Given the description of an element on the screen output the (x, y) to click on. 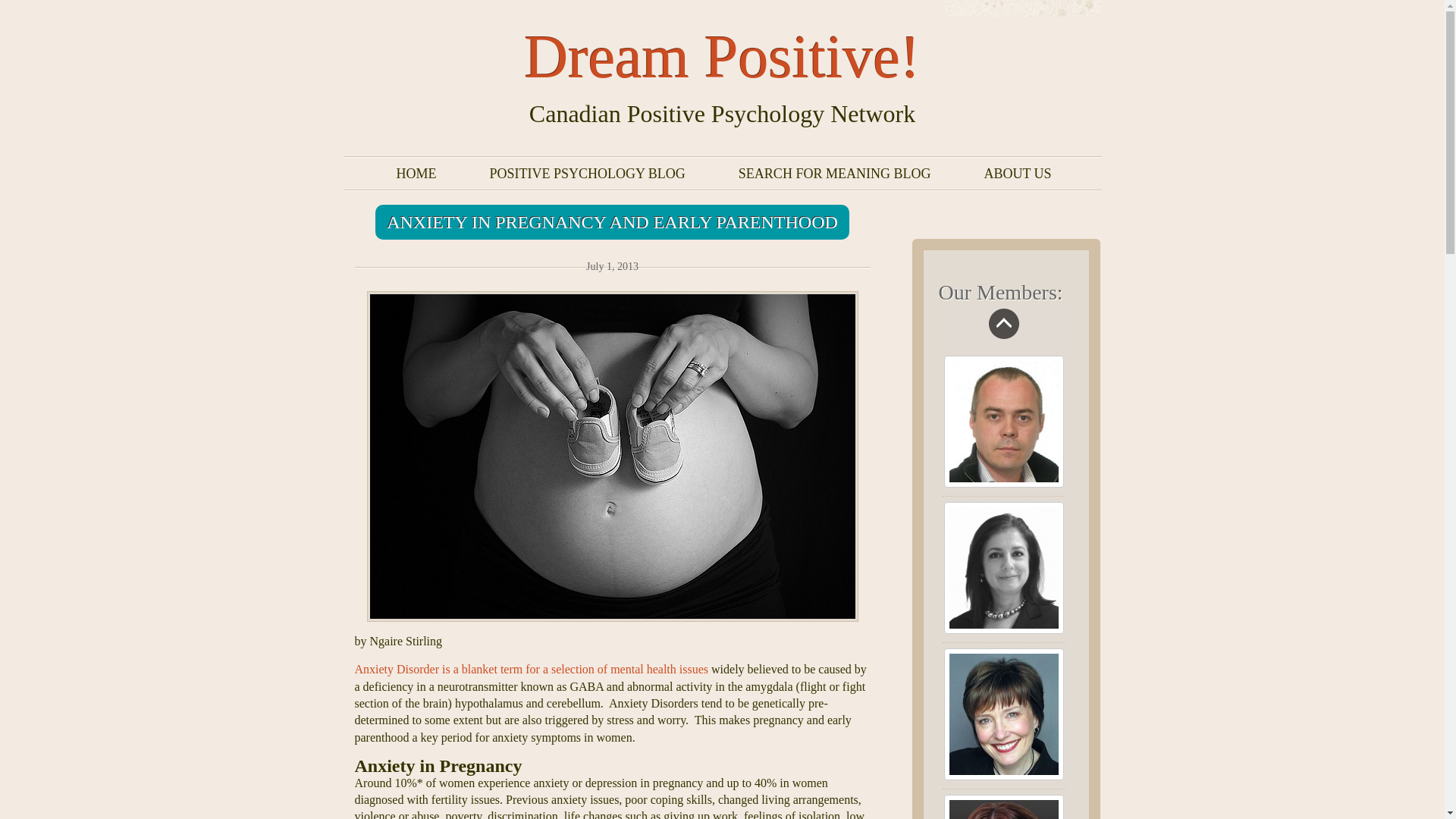
Different Types Of Anxiety Disorders (532, 668)
SEARCH FOR MEANING BLOG (834, 173)
Dream Positive! (722, 56)
POSITIVE PSYCHOLOGY BLOG (586, 173)
ANXIETY IN PREGNANCY AND EARLY PARENTHOOD (611, 221)
ABOUT US (1017, 173)
Joe Accardi (1002, 421)
Dream Positive! (722, 56)
HOME (416, 173)
Ashley Kreze (1002, 806)
Nicolina Ratto (1002, 567)
Carole Gaato (1002, 714)
